Given the description of an element on the screen output the (x, y) to click on. 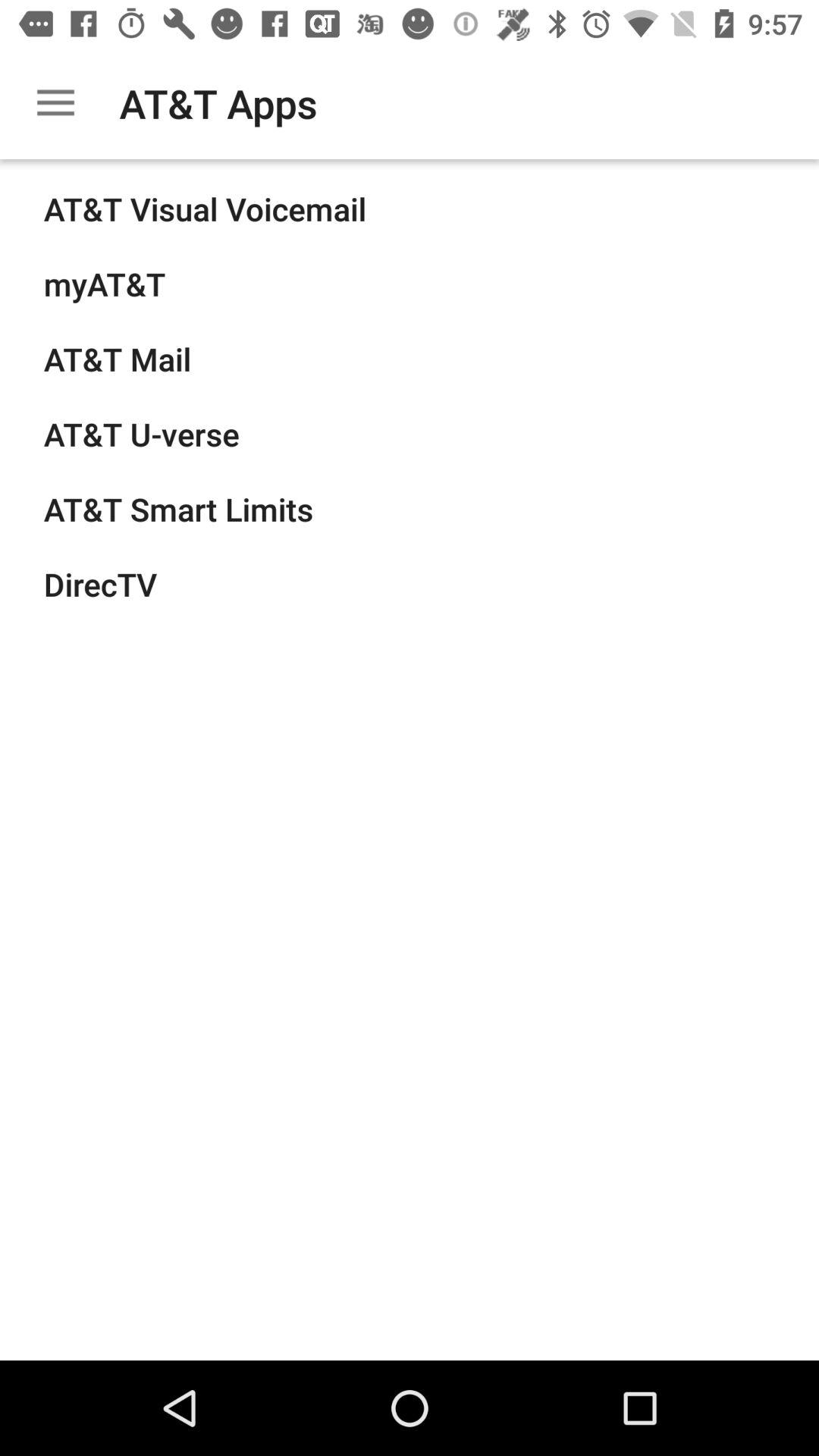
select the item next to at&t apps icon (55, 103)
